Given the description of an element on the screen output the (x, y) to click on. 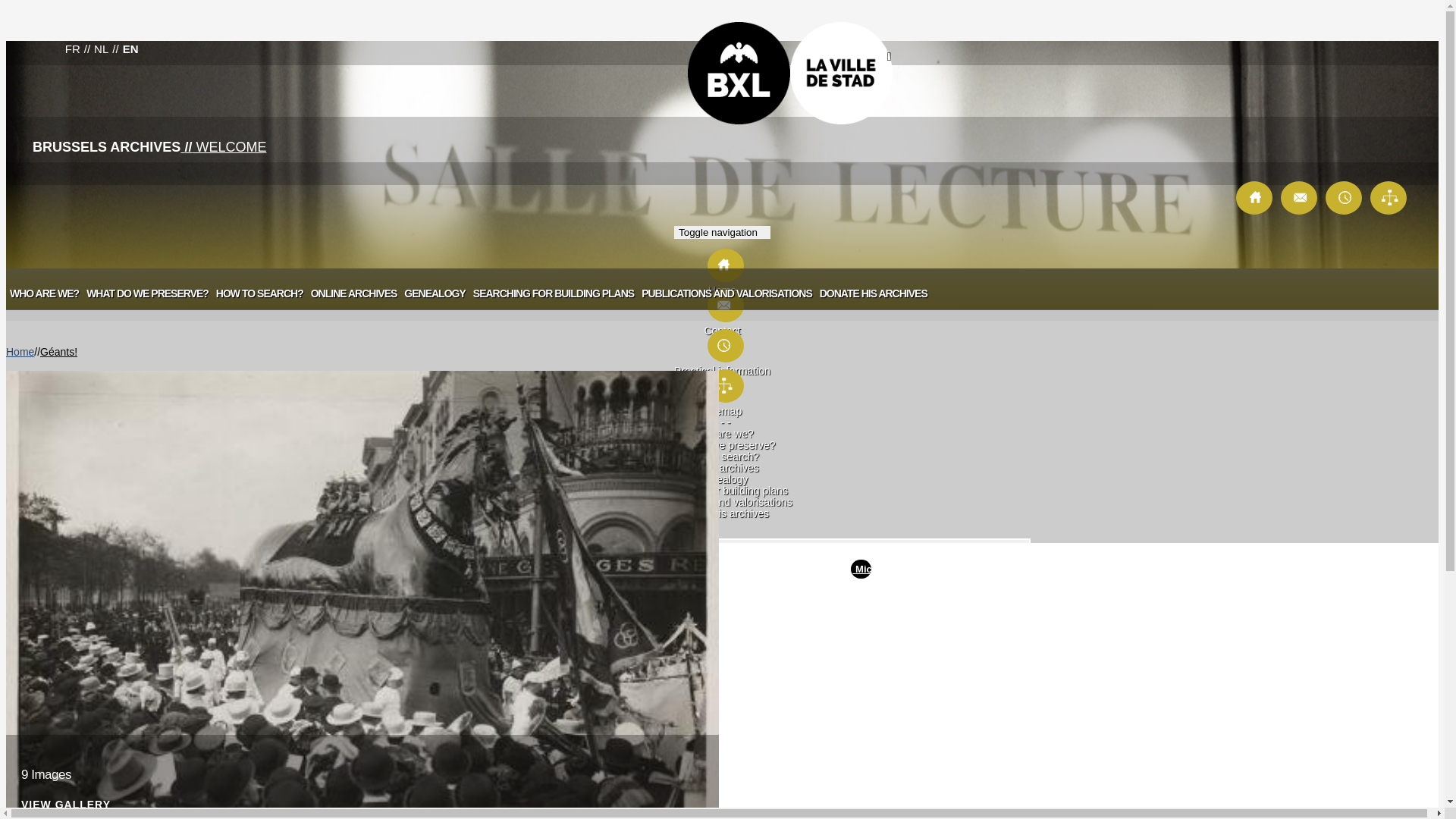
HOW TO SEARCH? Element type: text (259, 293)
Sitemap Element type: text (722, 404)
Homepage City of Brussels Element type: hover (789, 72)
Home Element type: text (722, 284)
Searching for building plans Element type: text (721, 490)
Toggle navigation    Element type: text (722, 231)
FR Element type: text (72, 48)
Donate his archives Element type: text (721, 513)
 Micro Element type: text (860, 568)
How to search? Element type: text (722, 456)
Search Element type: hover (765, 562)
Sitemap Element type: hover (722, 385)
Practical information Element type: text (722, 364)
Sitemap Element type: hover (1389, 197)
BRUSSELS ARCHIVES // WELCOME Element type: text (149, 150)
WHO ARE WE? Element type: text (43, 293)
GENEALOGY Element type: text (434, 293)
Contact Element type: hover (722, 304)
Search Element type: text (909, 58)
NL Element type: text (101, 48)
Contact Element type: hover (1299, 197)
WHAT DO WE PRESERVE? Element type: text (147, 293)
Home Element type: hover (722, 264)
DONATE HIS ARCHIVES Element type: text (873, 293)
Home Element type: text (20, 351)
Genealogy Element type: text (722, 479)
Practical-information Element type: hover (722, 345)
Who are we? Element type: text (721, 433)
Publications and valorisations Element type: text (721, 501)
SEARCHING FOR BUILDING PLANS Element type: text (553, 293)
Home Element type: hover (1255, 197)
ONLINE ARCHIVES Element type: text (353, 293)
EN Element type: text (130, 48)
Practical information Element type: hover (1344, 197)
Online archives Element type: text (722, 467)
What do we preserve? Element type: text (721, 445)
PUBLICATIONS AND VALORISATIONS Element type: text (726, 293)
Contact Element type: text (722, 324)
